Given the description of an element on the screen output the (x, y) to click on. 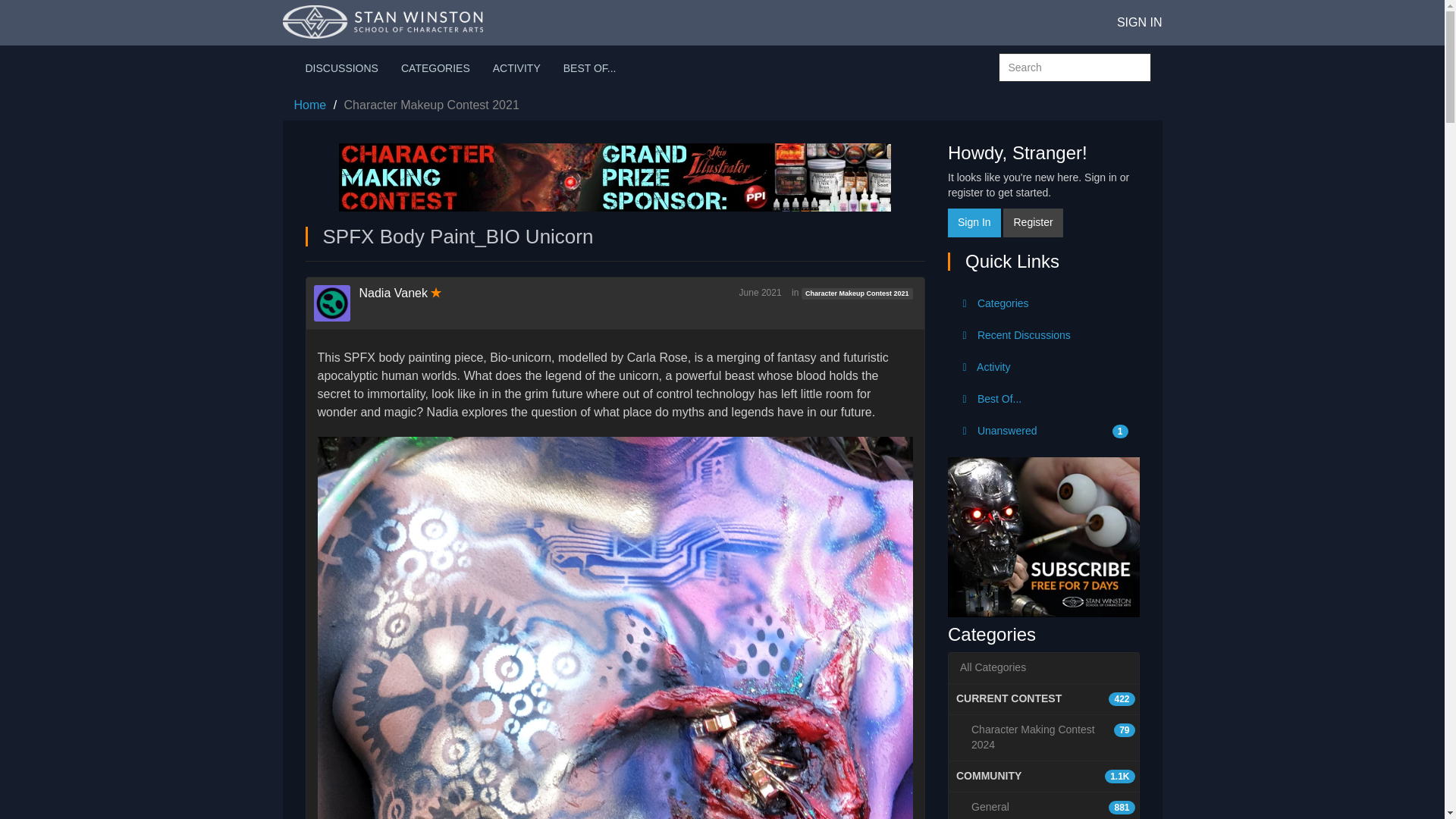
881 discussions (1121, 807)
Nadia Vanek (393, 292)
Home (310, 104)
Sign In (974, 222)
Character Makeup Contest 2021 (1043, 737)
Recent Discussions (857, 293)
Go (1043, 431)
Activity (1043, 336)
